Given the description of an element on the screen output the (x, y) to click on. 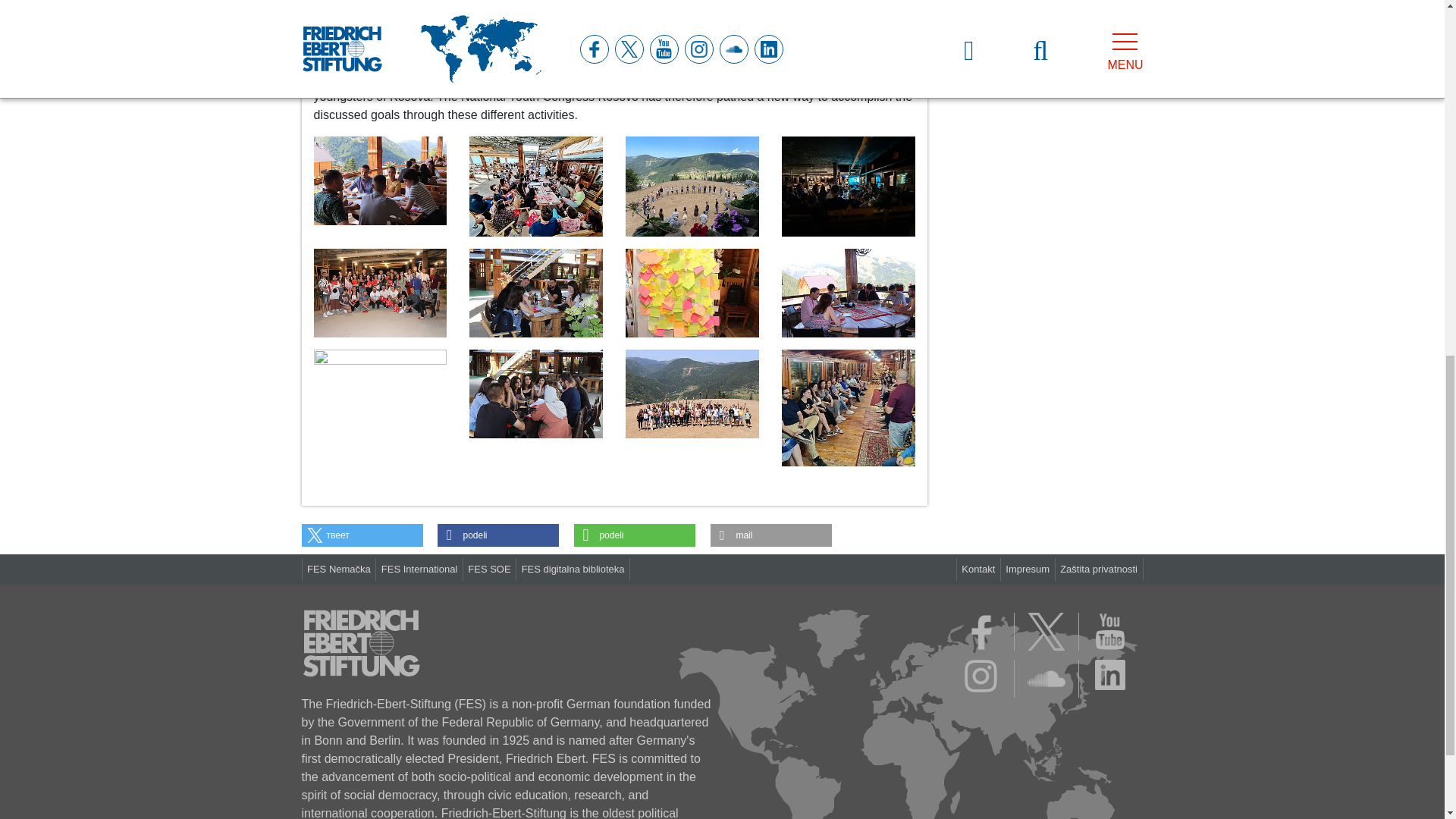
IMG 7776 (380, 179)
IMG 7768 (692, 291)
IMG 7768 (692, 292)
WhatsApp Image 2021 08 02 at 15.54.49 2  (848, 185)
IMG 7688 (380, 292)
IMG 7776 (380, 180)
WhatsApp Image 2021 08 02 at 15.54.52 2  (535, 185)
WhatsApp Image 2021 08 02 at 18.23.13 2  (692, 185)
IMG 7704 (535, 291)
WhatsApp Image 2021 08 02 at 18.23.13 2  (692, 186)
WhatsApp Image 2021 08 02 at 15.54.52 2  (535, 186)
IMG 7688 (380, 291)
IMG 7704 (535, 292)
WhatsApp Image 2021 08 02 at 15.54.49 2  (848, 186)
